Given the description of an element on the screen output the (x, y) to click on. 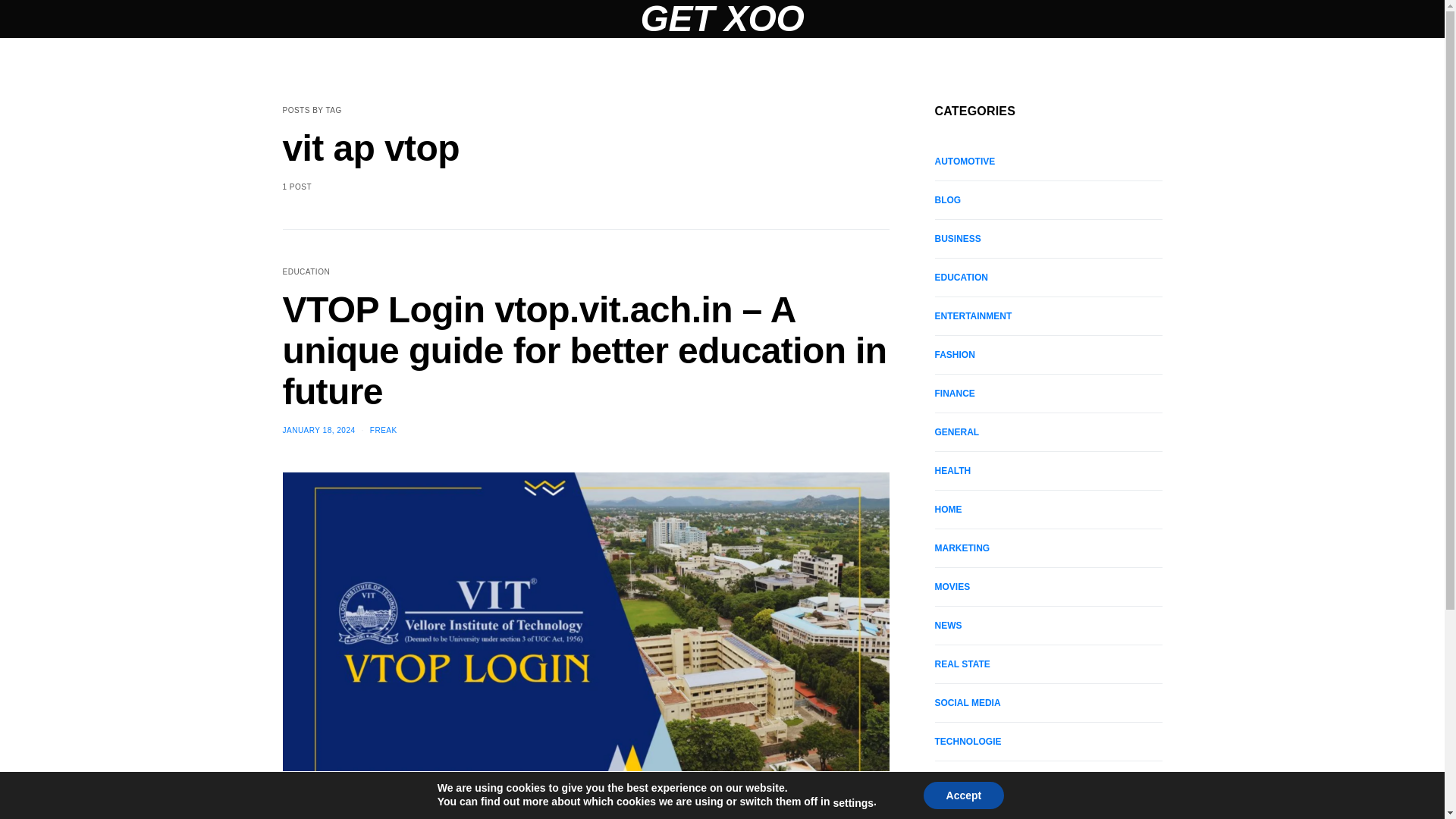
EDUCATION (306, 271)
ENTERTAINMENT (547, 52)
HEALTH (760, 52)
EDUCATION (456, 52)
FINANCE (629, 52)
View all posts by Freak (383, 429)
GET XOO (722, 18)
TECHNOLOGY (835, 52)
GENERAL (697, 52)
BUSINESS (975, 52)
TRAVEL (910, 52)
JANUARY 18, 2024 (318, 429)
